Given the description of an element on the screen output the (x, y) to click on. 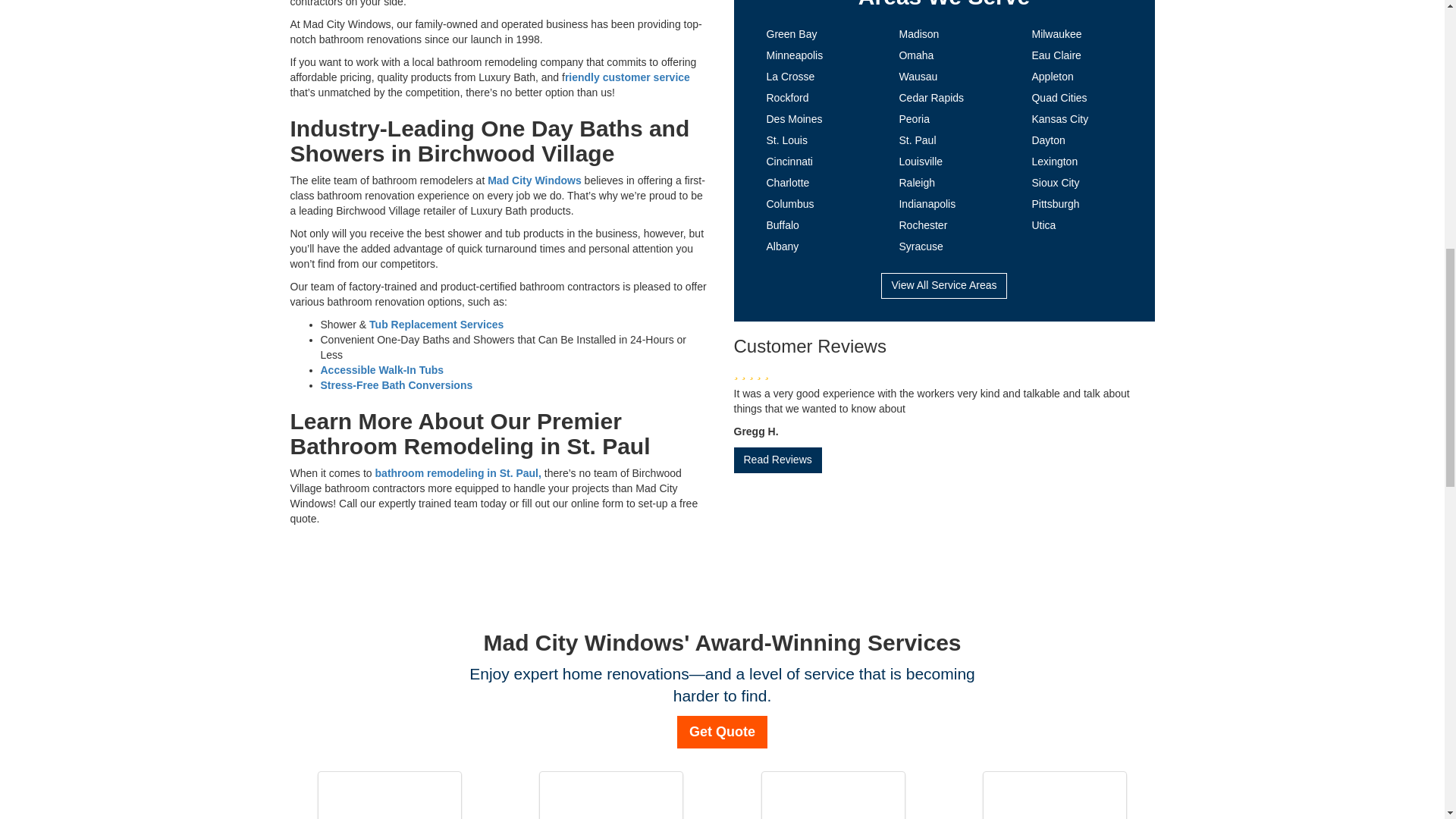
5 Stars (943, 371)
Get Quote (722, 732)
